Given the description of an element on the screen output the (x, y) to click on. 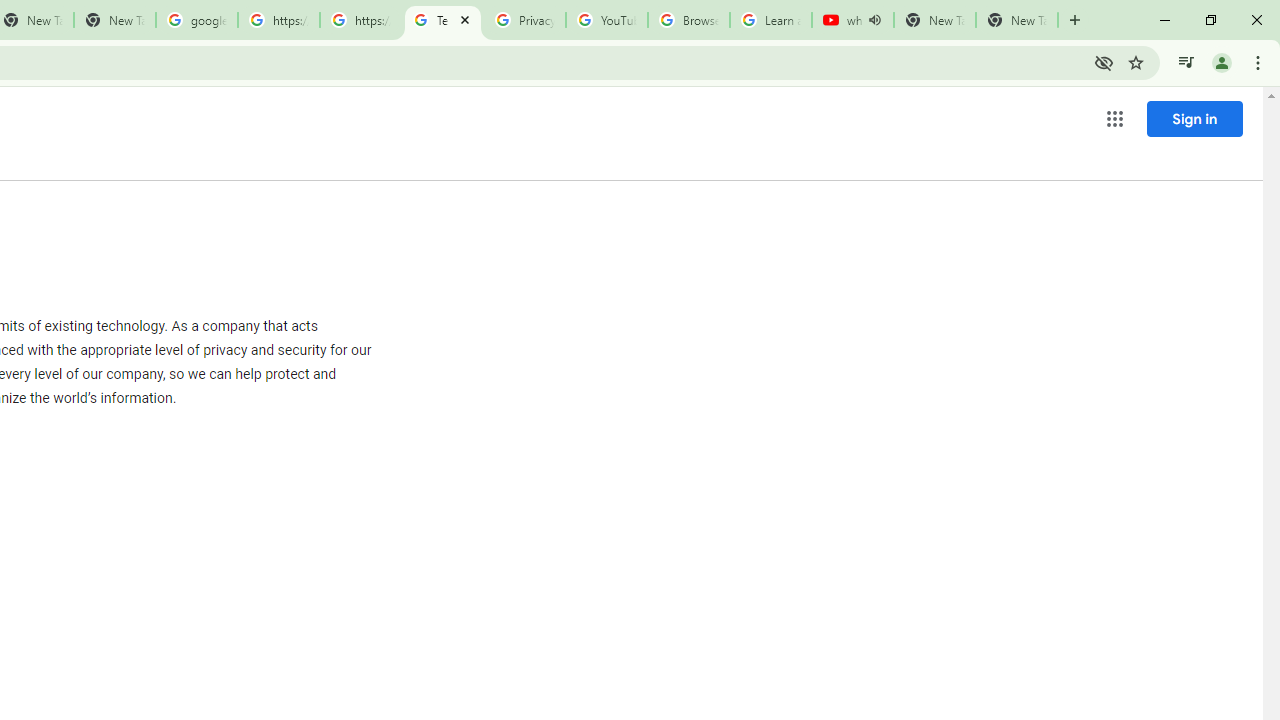
Browse Chrome as a guest - Computer - Google Chrome Help (688, 20)
